Given the description of an element on the screen output the (x, y) to click on. 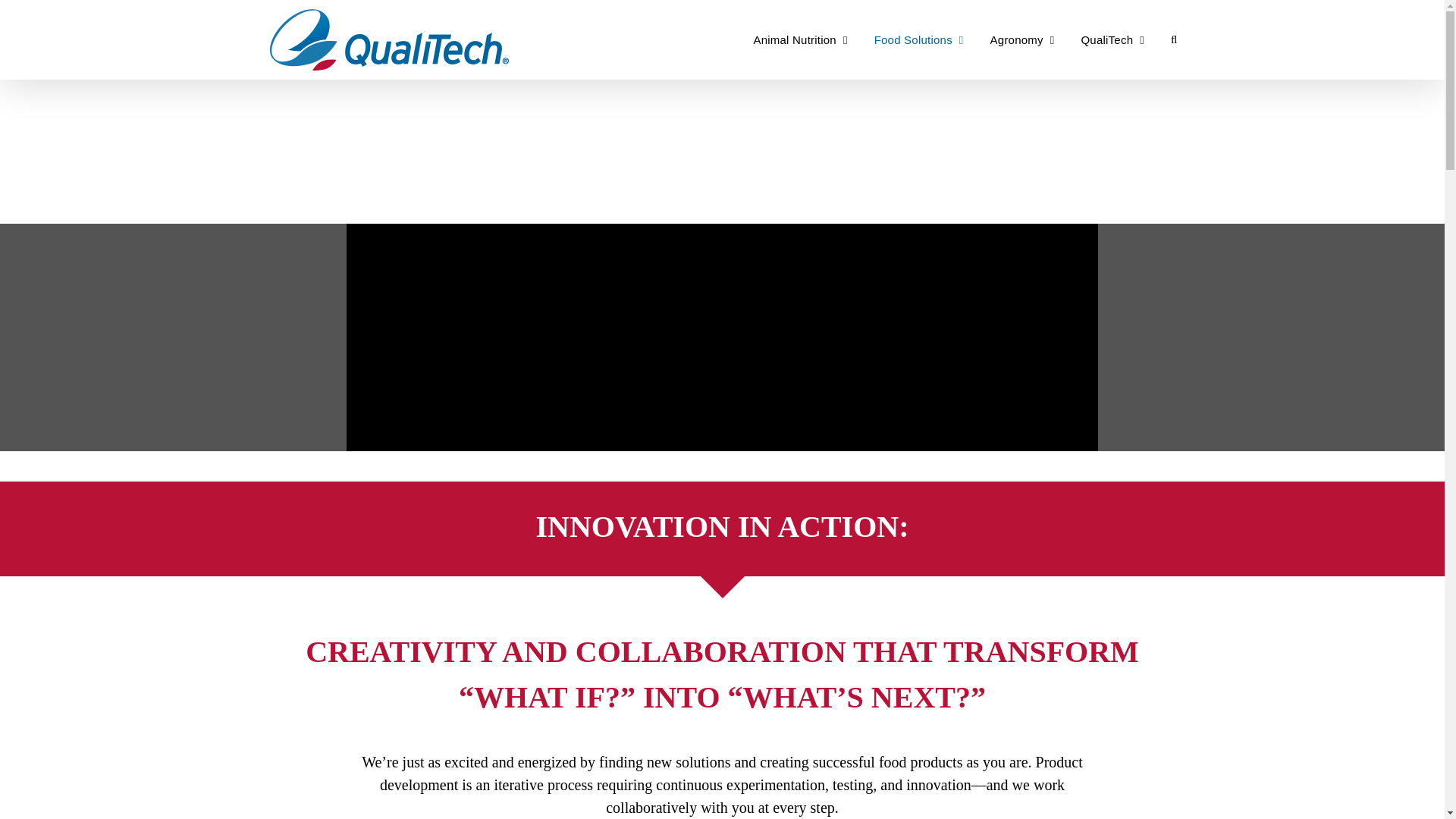
Food Solutions (919, 39)
Animal Nutrition (799, 39)
